Given the description of an element on the screen output the (x, y) to click on. 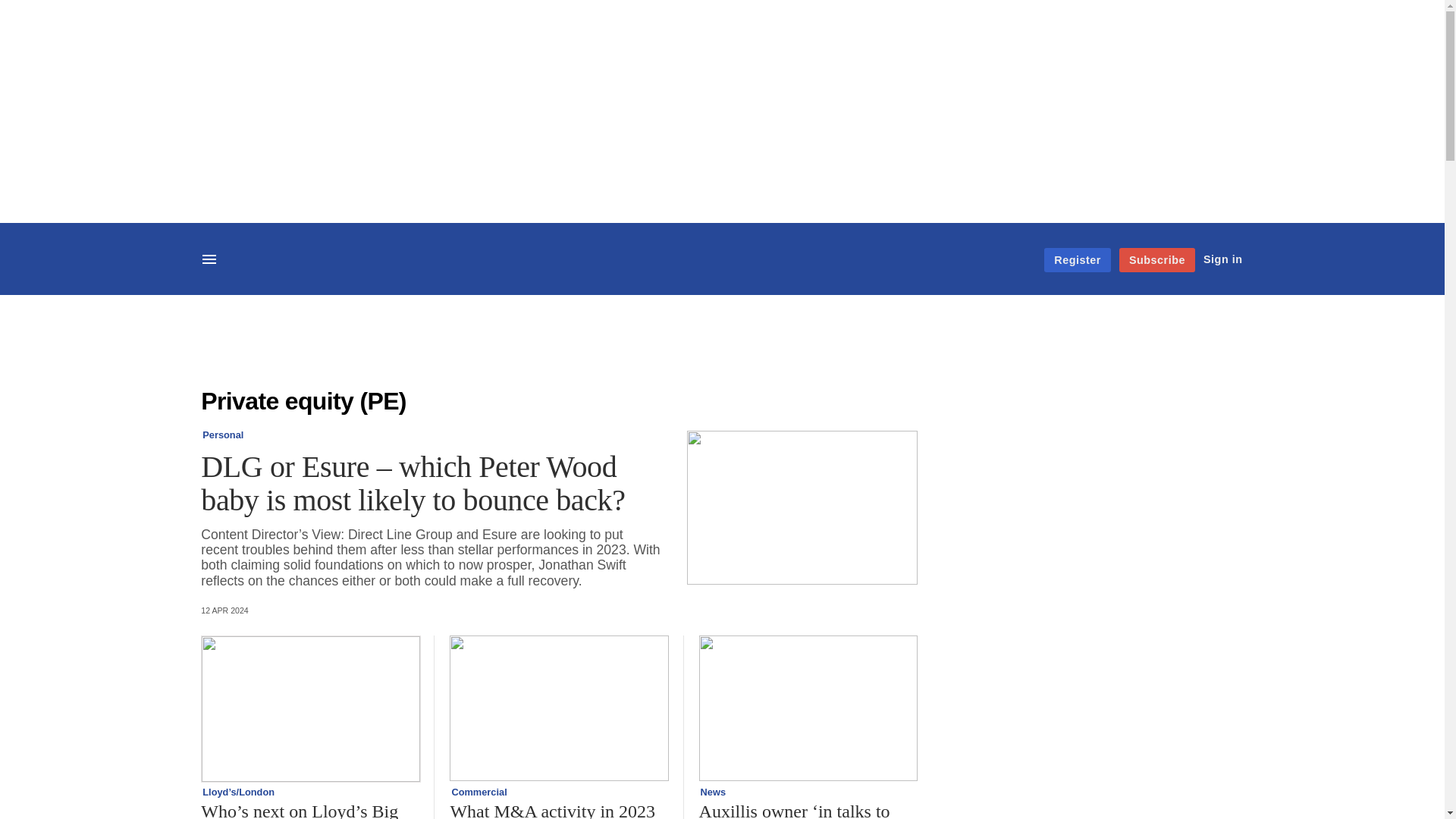
Open side navigation menu (210, 260)
Return to homepage (722, 271)
Open search popup (251, 258)
